Given the description of an element on the screen output the (x, y) to click on. 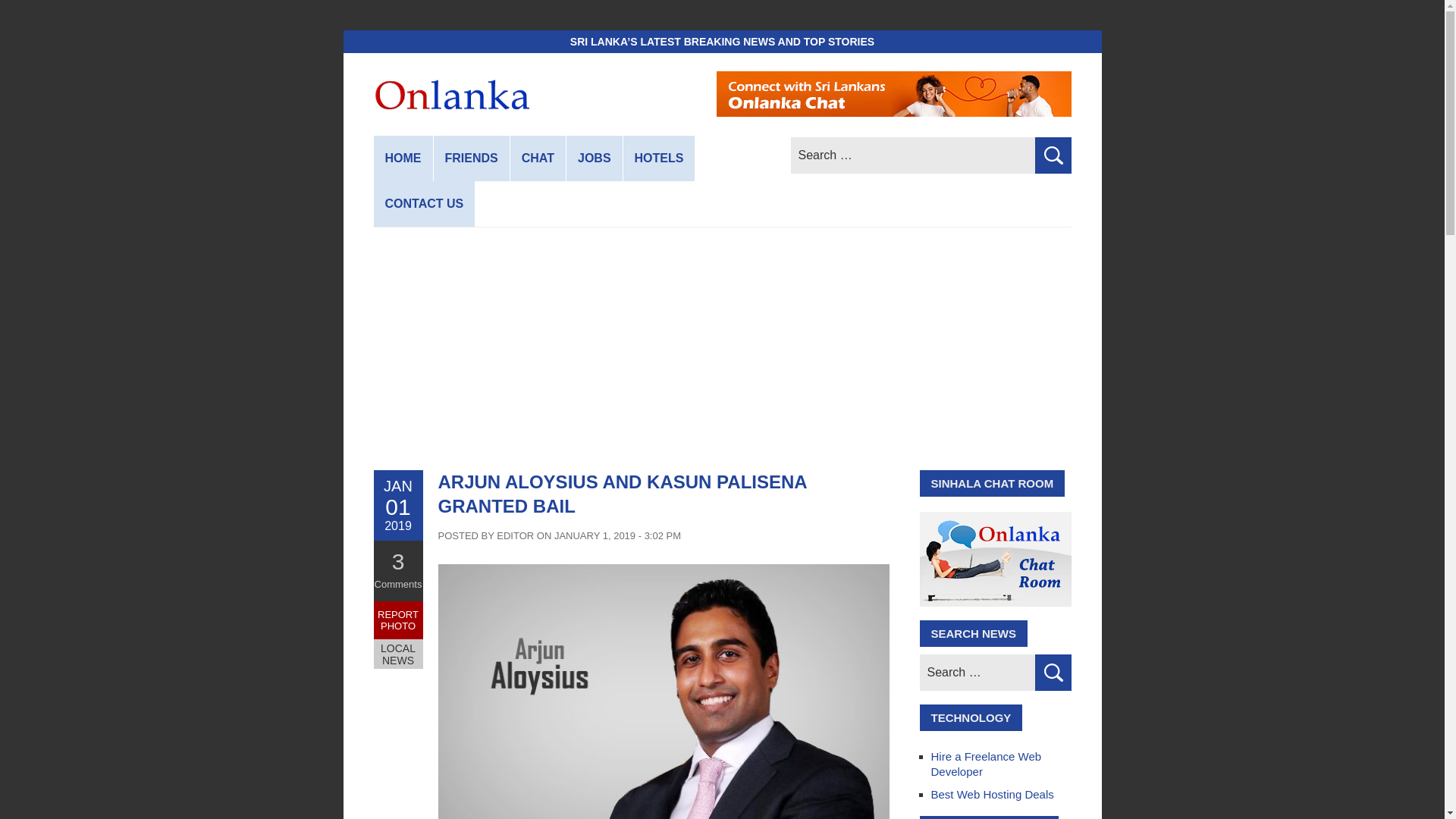
LOCAL NEWS (397, 654)
REPORT PHOTO (397, 620)
JOBS (594, 157)
Sri Lanka friends community (471, 157)
Search (1051, 155)
Search (1051, 672)
Search (1051, 672)
3 (397, 560)
Search (1051, 672)
Work From Home Jobs for Freelance Workers (594, 157)
HOME (402, 157)
Search (1051, 155)
Home page (402, 157)
Search (1051, 155)
